Given the description of an element on the screen output the (x, y) to click on. 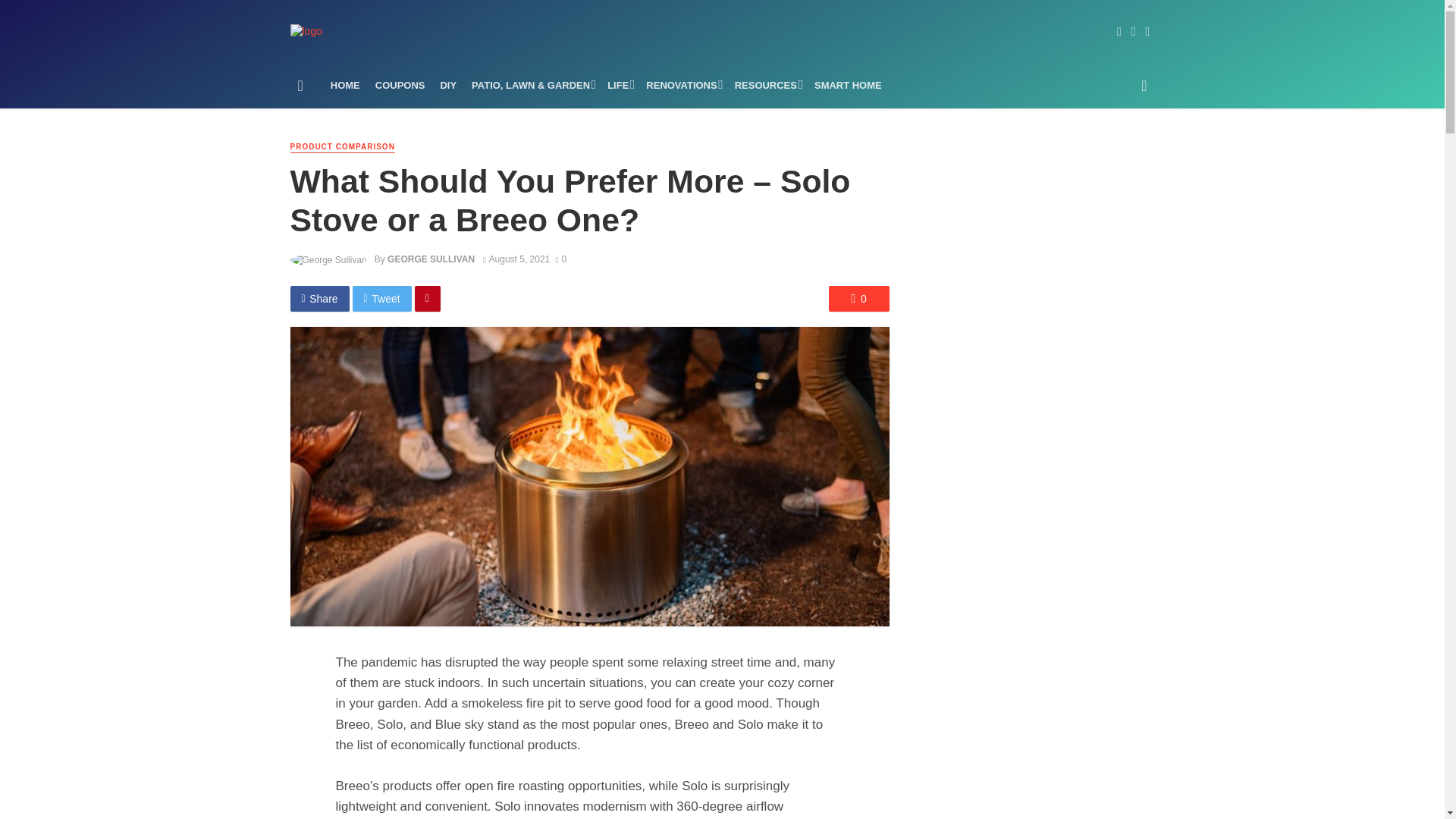
RENOVATIONS (682, 85)
0 (858, 298)
LIFE (619, 85)
0 Comments (560, 258)
Share (319, 298)
0 (560, 258)
HOME (345, 85)
SMART HOME (847, 85)
Posts by George Sullivan (430, 258)
RESOURCES (766, 85)
Share on Pinterest (427, 298)
0 Comments (858, 298)
PRODUCT COMPARISON (341, 147)
Tweet (382, 298)
DIY (448, 85)
